Given the description of an element on the screen output the (x, y) to click on. 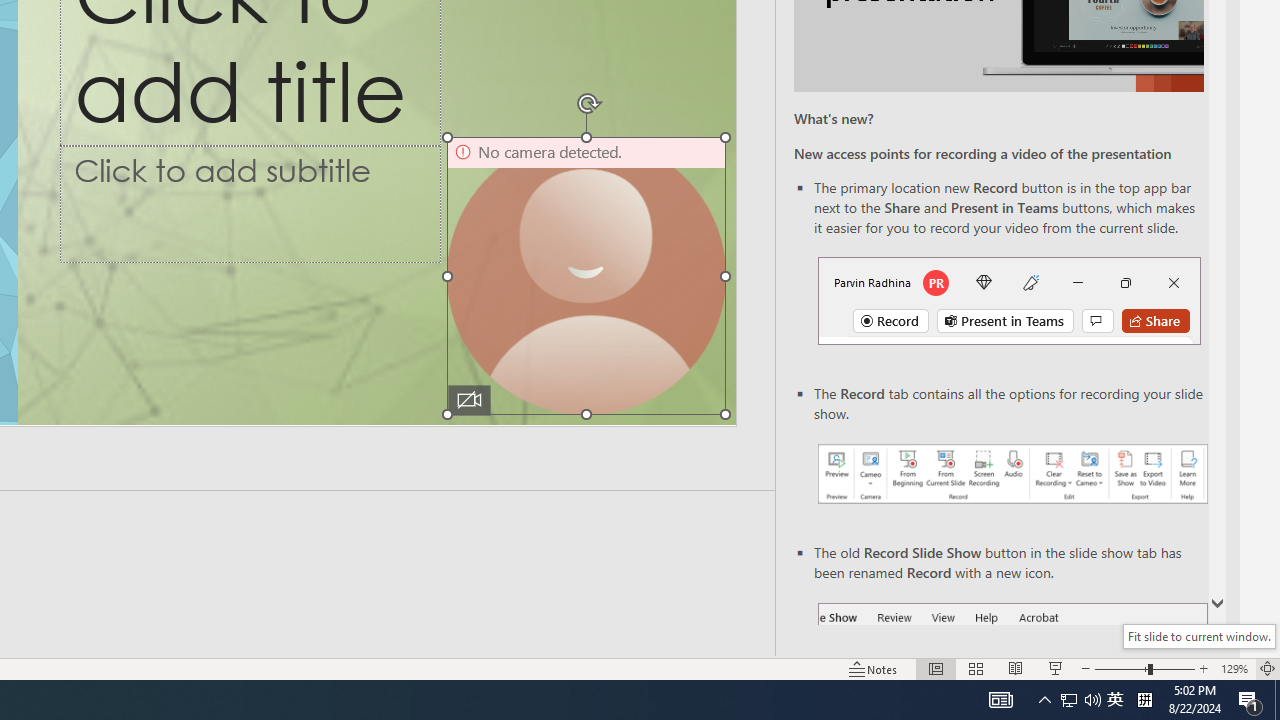
Fit slide to current window. (1199, 636)
Record your presentations screenshot one (1012, 473)
Zoom 129% (1234, 668)
Record button in top bar (1008, 300)
